Given the description of an element on the screen output the (x, y) to click on. 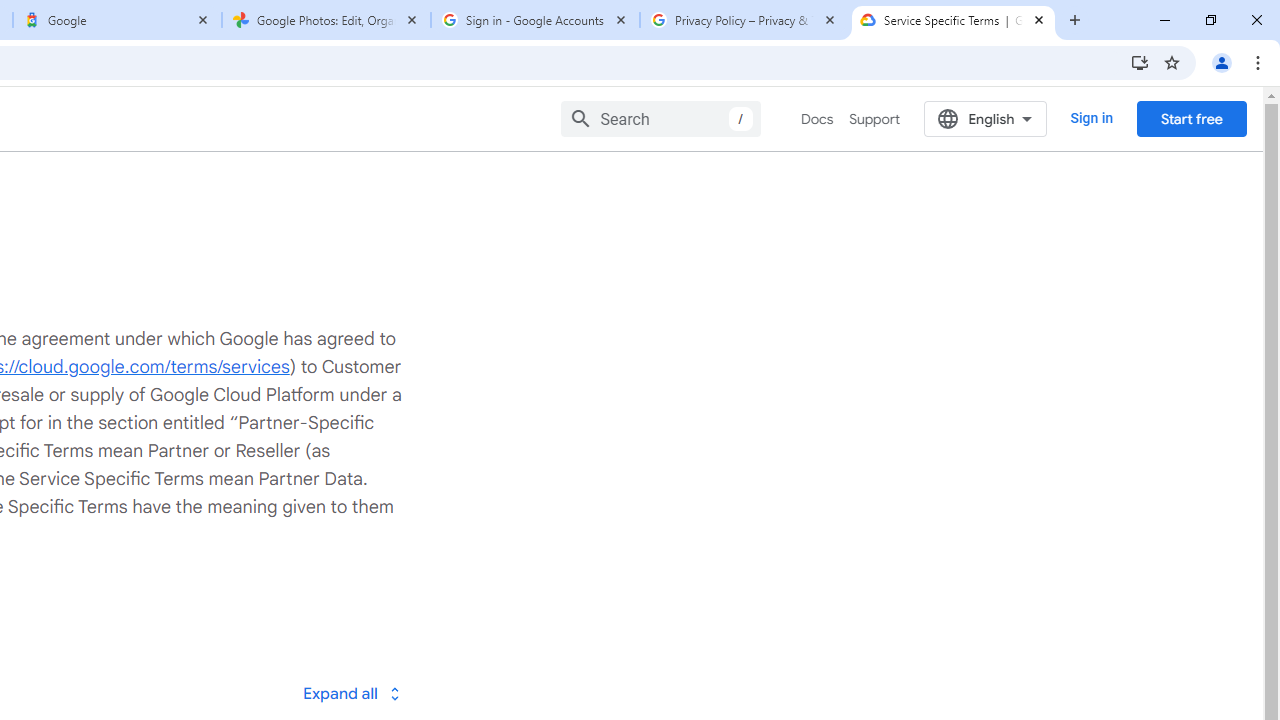
Sign in - Google Accounts (535, 20)
Chrome (1260, 62)
English (985, 118)
Docs (817, 119)
Close (1039, 19)
Toggle all (351, 692)
You (1221, 62)
Restore (1210, 20)
New Tab (1075, 20)
Install Google Cloud (1139, 62)
Bookmark this tab (1171, 62)
Sign in (1092, 118)
